Given the description of an element on the screen output the (x, y) to click on. 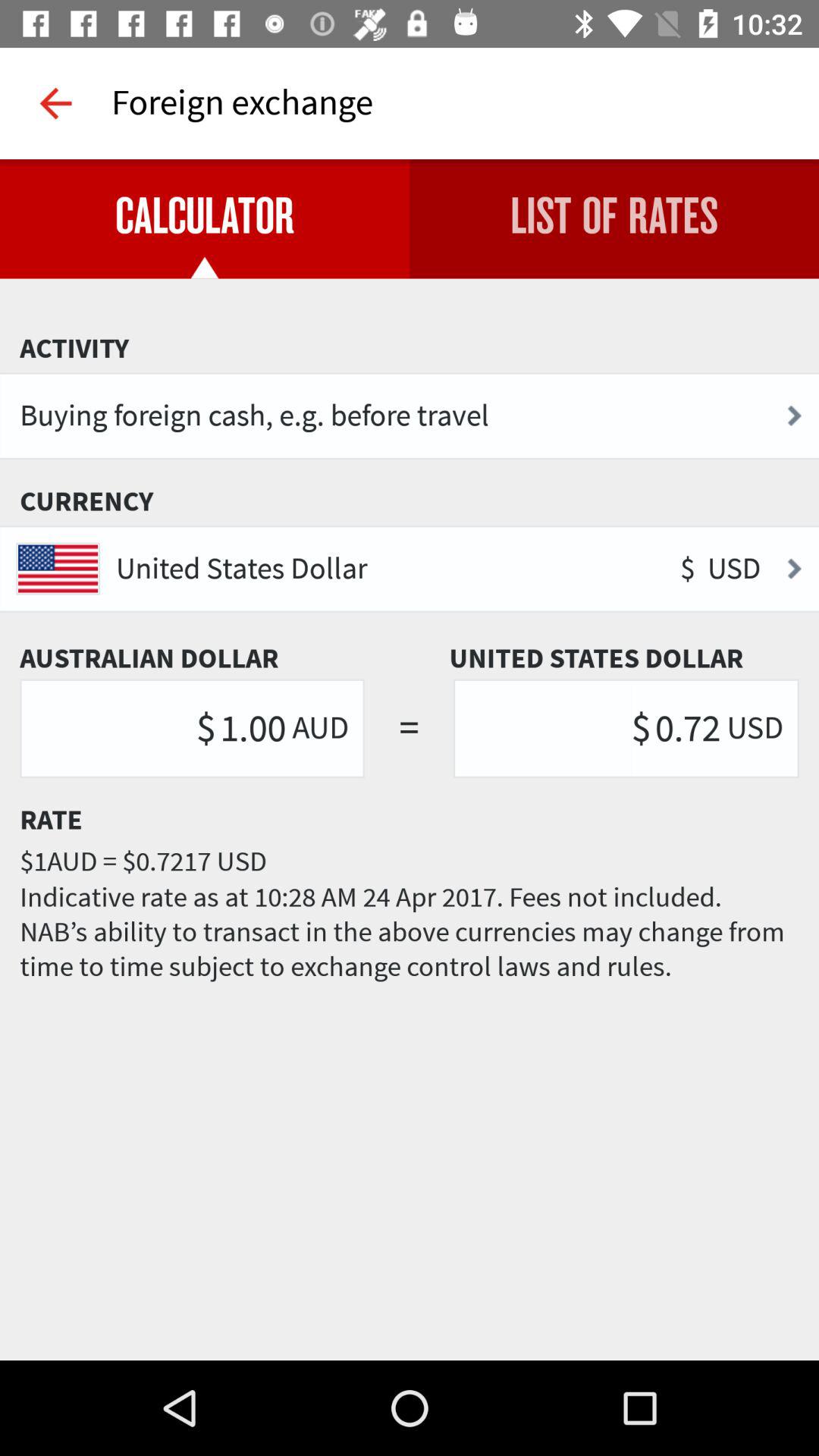
open item next to calculator (614, 218)
